Given the description of an element on the screen output the (x, y) to click on. 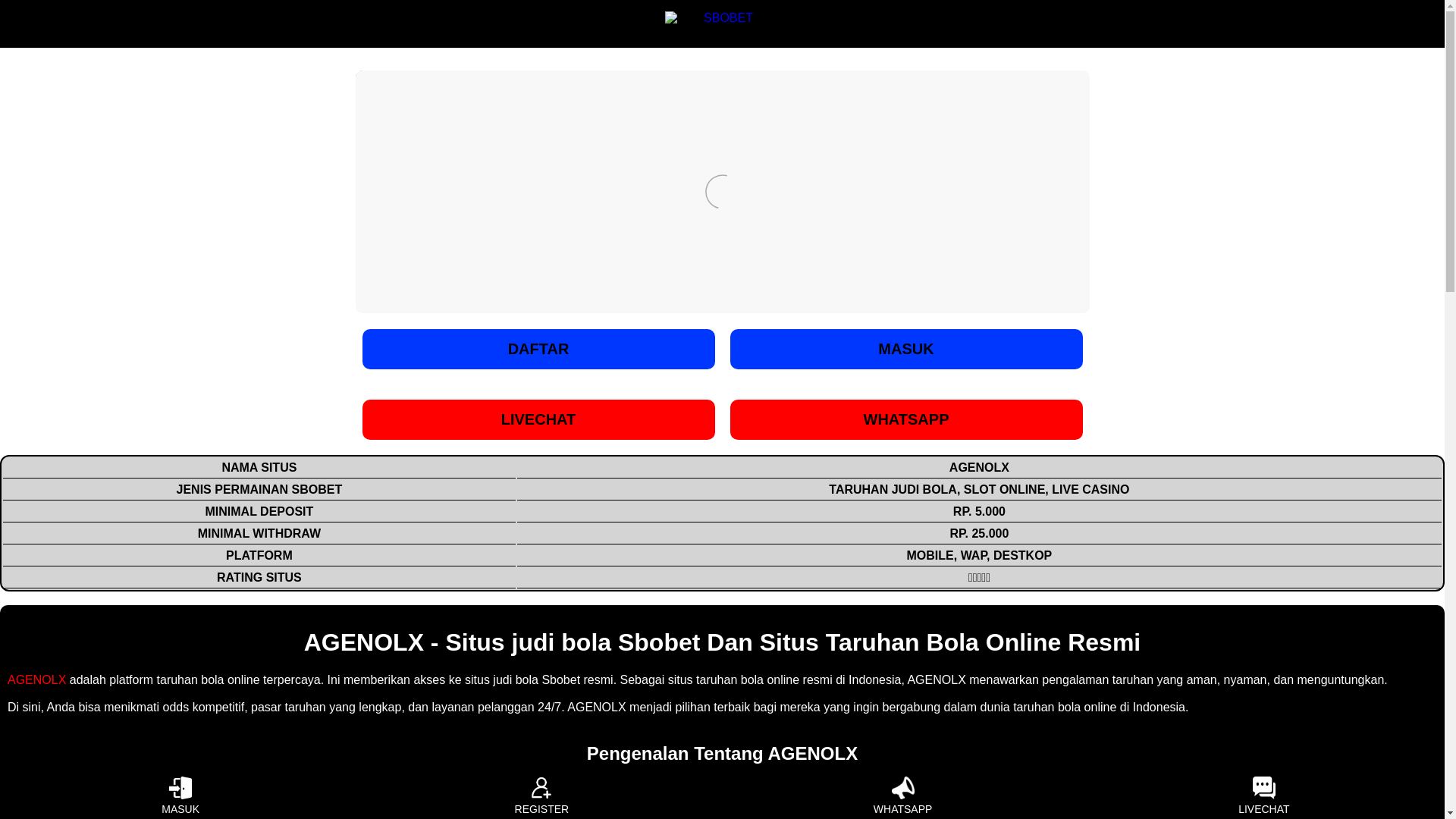
AGENOLX (36, 679)
DAFTAR (538, 349)
MASUK (905, 349)
REGISTER (541, 795)
MASUK (180, 795)
WHATSAPP (903, 795)
LIVECHAT (538, 419)
AGENOLX (36, 679)
WHATSAPP (905, 419)
LIVECHAT (1262, 795)
